Given the description of an element on the screen output the (x, y) to click on. 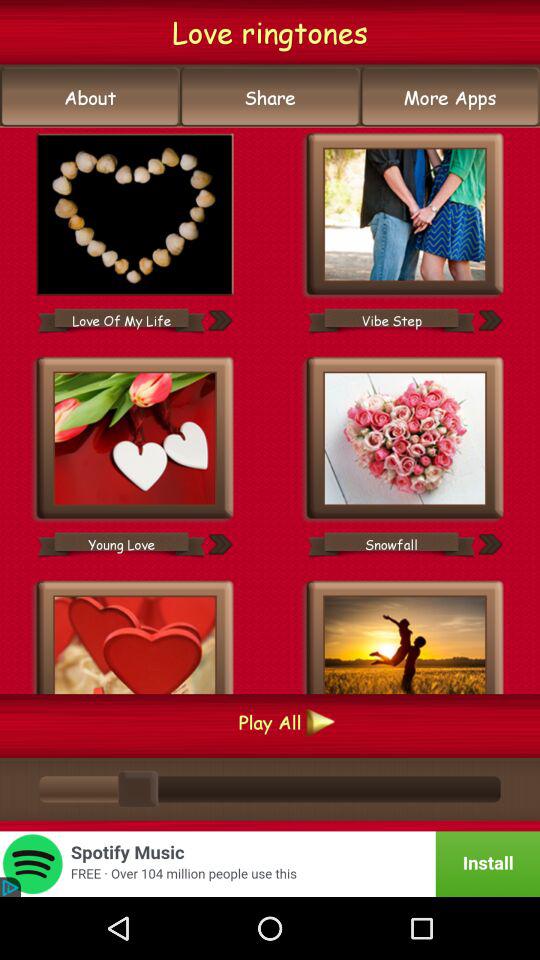
click the icon below the love ringtones item (90, 97)
